Given the description of an element on the screen output the (x, y) to click on. 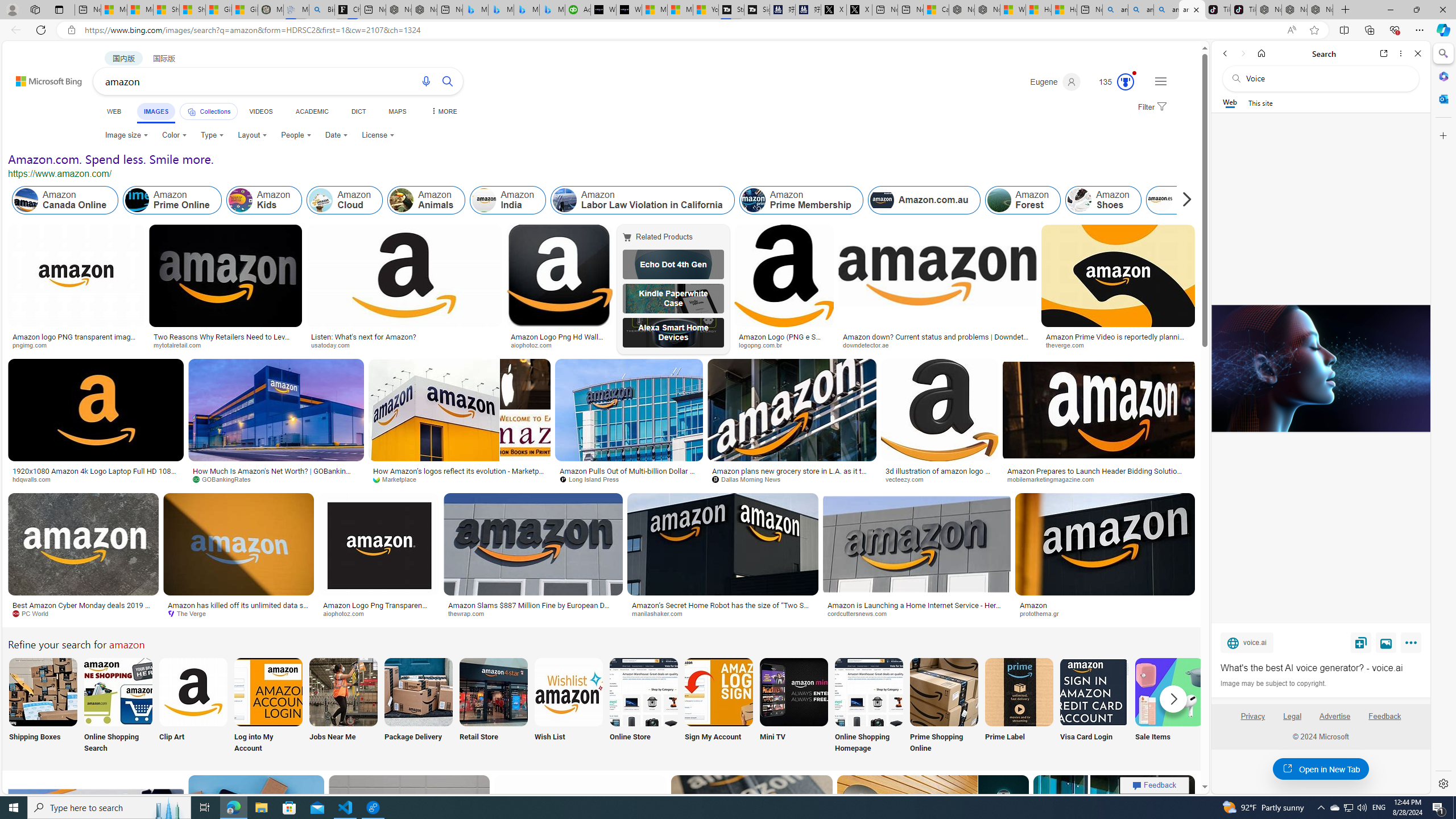
Amazonprotothema.grSave (1104, 557)
More options (1401, 53)
Amazon Shoes (1079, 200)
Type (212, 135)
Long Island Press (593, 479)
Legal (1292, 720)
People (295, 135)
amazon - Search (1140, 9)
MAPS (397, 111)
Date (336, 135)
